Given the description of an element on the screen output the (x, y) to click on. 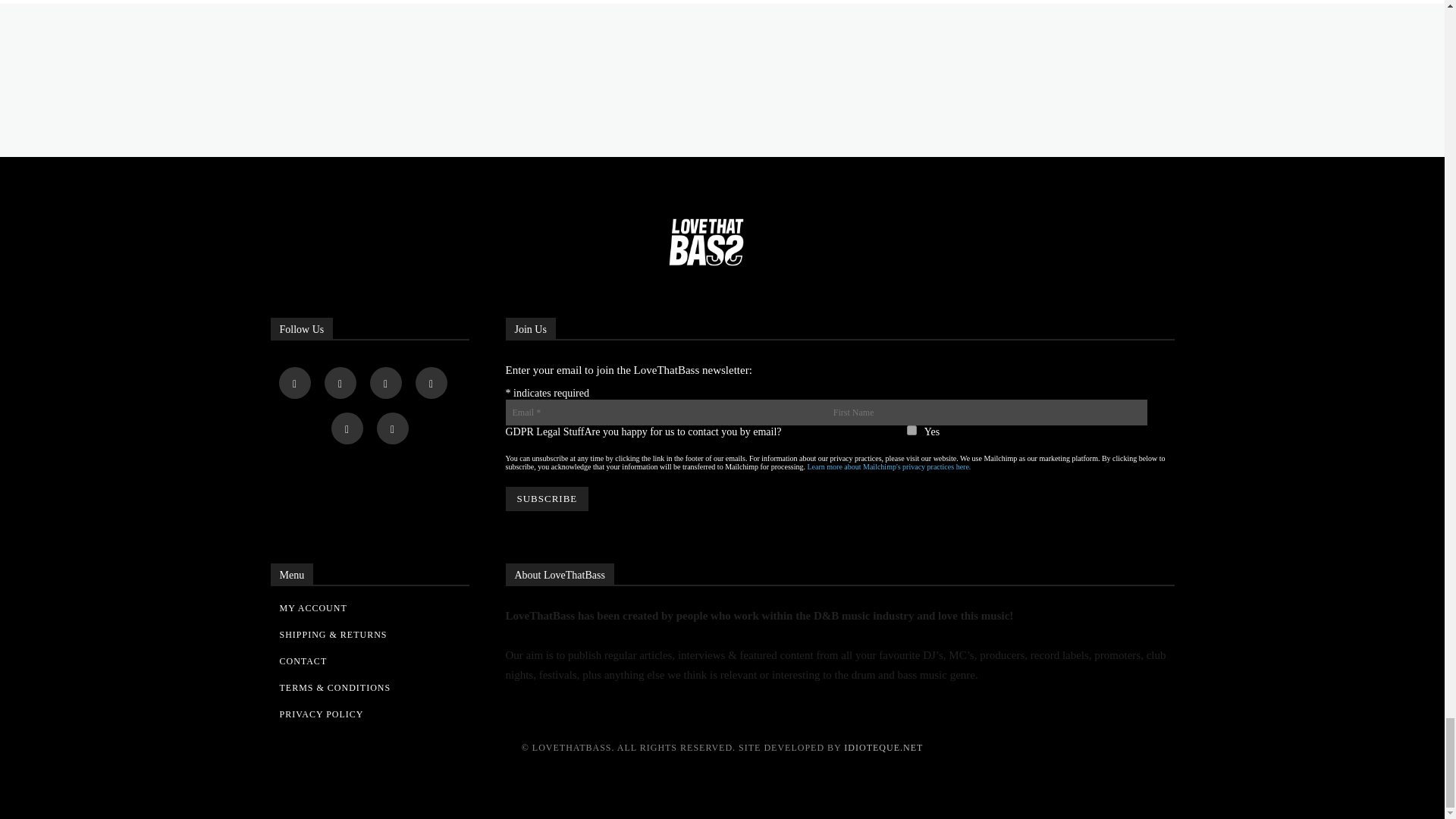
Y (912, 429)
Subscribe (546, 498)
